Given the description of an element on the screen output the (x, y) to click on. 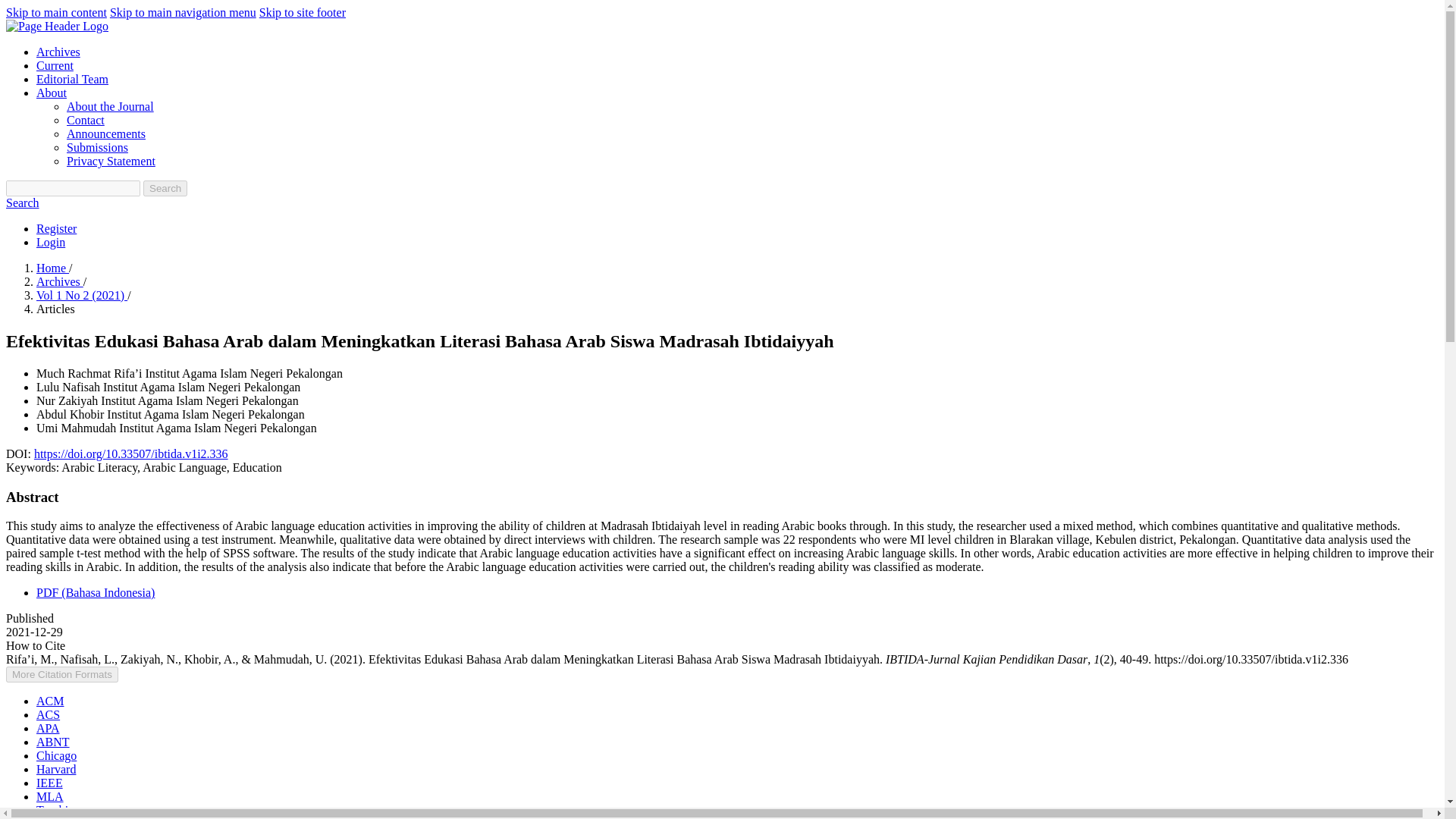
Announcements (105, 133)
Search (22, 202)
Contact (85, 119)
Turabian (58, 809)
Search (164, 188)
Archives (59, 281)
Current (55, 65)
Submissions (97, 146)
IEEE (49, 782)
Harvard (55, 768)
